Given the description of an element on the screen output the (x, y) to click on. 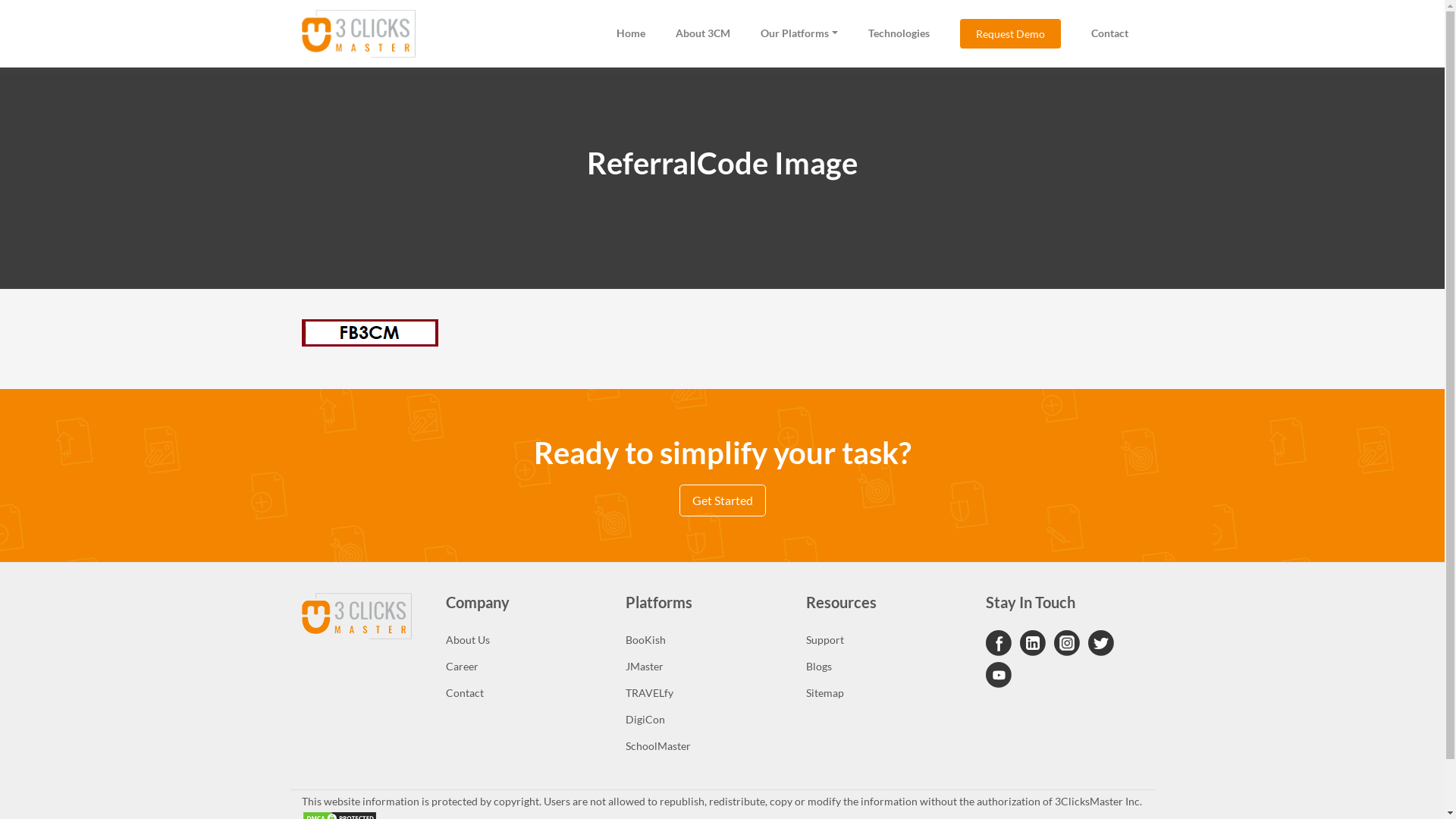
TRAVELfy Element type: text (704, 692)
Blogs Element type: text (884, 665)
Technologies Element type: text (898, 32)
Request Demo Element type: text (1010, 33)
Our Platforms Element type: text (799, 32)
SchoolMaster Element type: text (704, 745)
Contact Element type: text (1108, 32)
Support Element type: text (884, 639)
Sitemap Element type: text (884, 692)
BooKish Element type: text (704, 639)
Get Started Element type: text (722, 500)
DigiCon Element type: text (704, 719)
About 3CM Element type: text (702, 32)
JMaster Element type: text (704, 665)
Home Element type: text (630, 32)
Career Element type: text (524, 665)
About Us Element type: text (524, 639)
Contact Element type: text (524, 692)
